Given the description of an element on the screen output the (x, y) to click on. 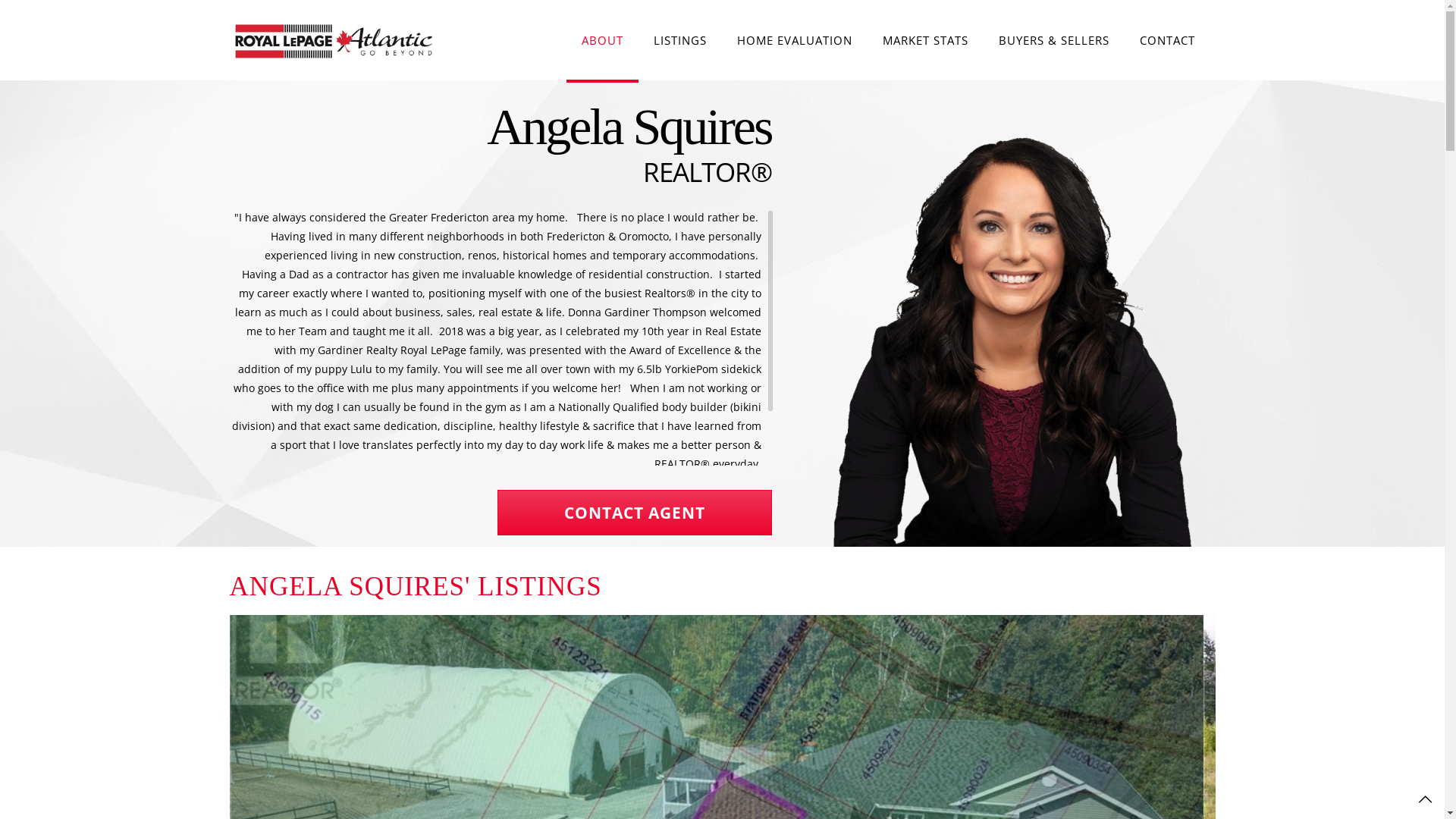
Royal LePage Atlantic Element type: hover (334, 39)
CONTACT AGENT Element type: text (634, 512)
ABOUT Element type: text (601, 39)
CONTACT Element type: text (1166, 39)
HOME EVALUATION Element type: text (794, 39)
MARKET STATS Element type: text (925, 39)
LISTINGS Element type: text (679, 39)
BUYERS & SELLERS Element type: text (1052, 39)
